Given the description of an element on the screen output the (x, y) to click on. 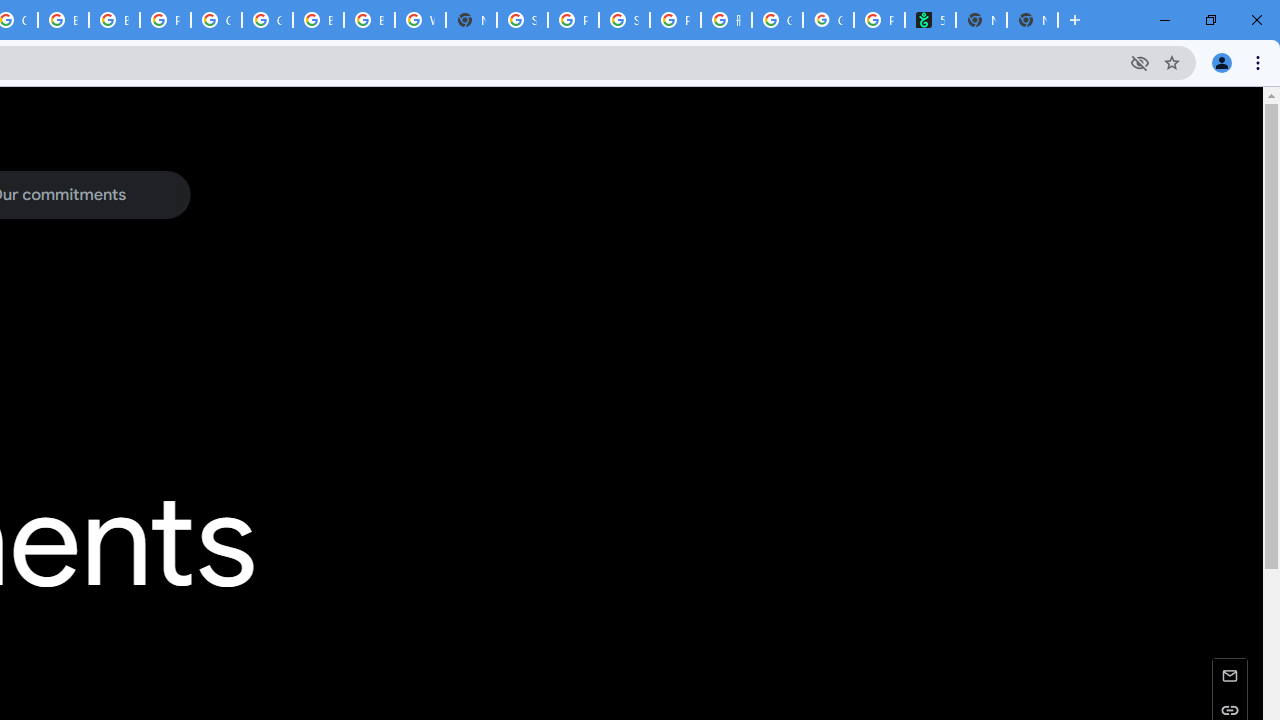
Google Cloud Platform (215, 20)
Browse Chrome as a guest - Computer - Google Chrome Help (113, 20)
Browse Chrome as a guest - Computer - Google Chrome Help (369, 20)
Share this page (Email) (1230, 674)
New Tab (470, 20)
Sign in - Google Accounts (521, 20)
Browse Chrome as a guest - Computer - Google Chrome Help (318, 20)
